Given the description of an element on the screen output the (x, y) to click on. 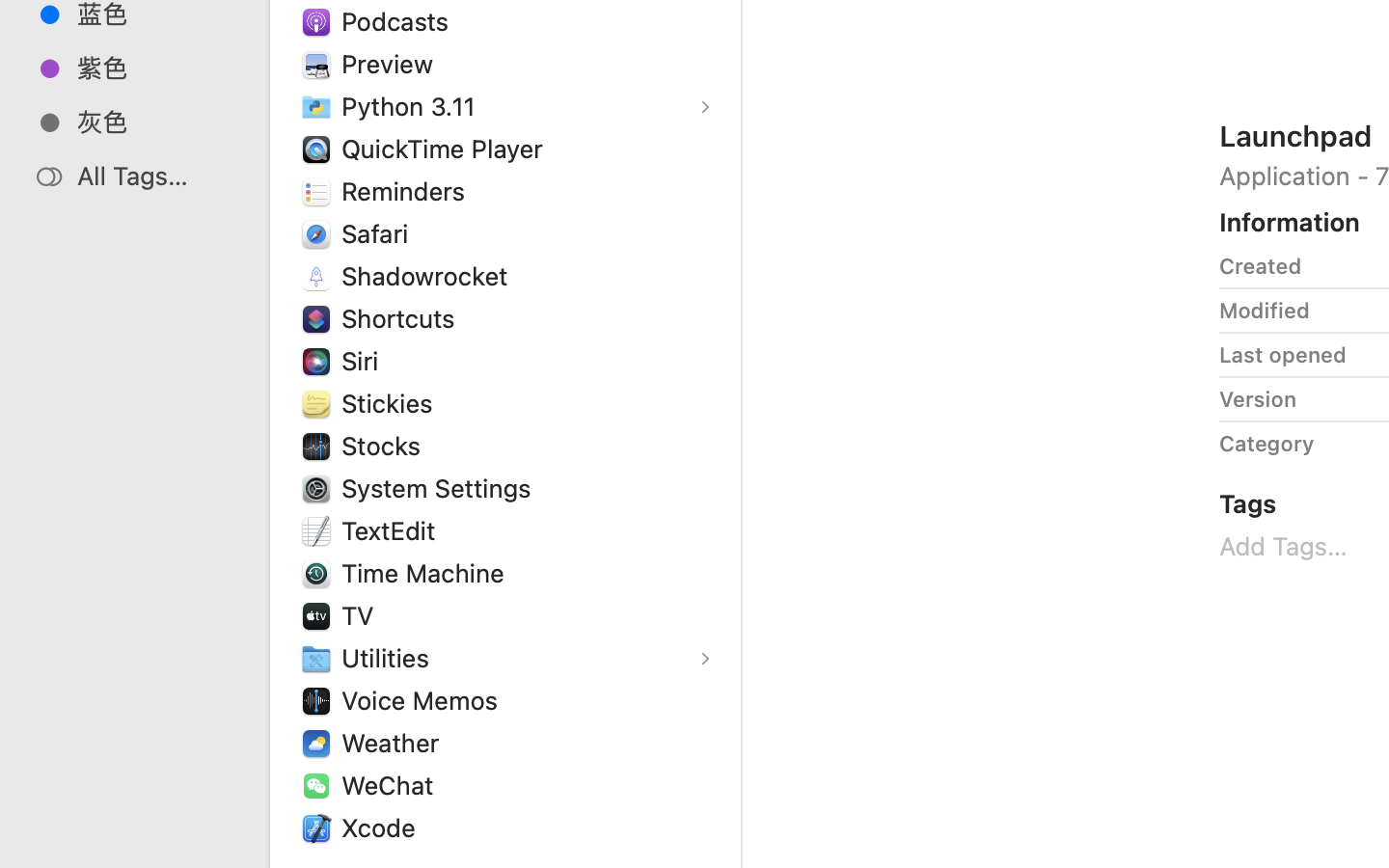
Tags… Element type: AXStaticText (41, 852)
System Settings Element type: AXTextField (440, 487)
Reminders Element type: AXTextField (407, 190)
WeChat Element type: AXTextField (391, 784)
All Tags… Element type: AXStaticText (155, 175)
